Given the description of an element on the screen output the (x, y) to click on. 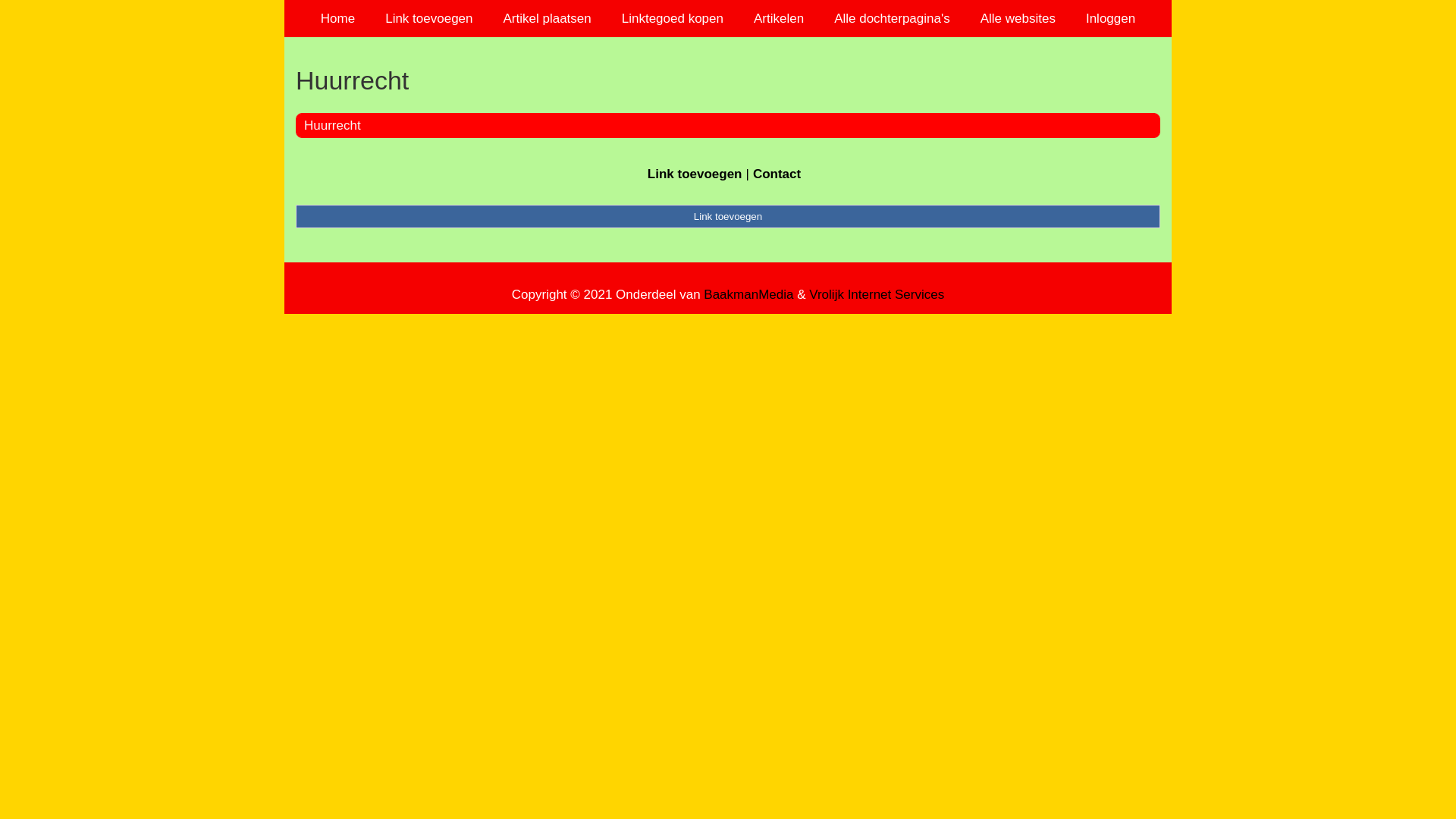
Home Element type: text (337, 18)
Link toevoegen Element type: text (727, 215)
Artikelen Element type: text (778, 18)
Link toevoegen Element type: text (428, 18)
Huurrecht Element type: text (727, 80)
Huurrecht Element type: text (332, 125)
Alle websites Element type: text (1017, 18)
Alle dochterpagina's Element type: text (892, 18)
Contact Element type: text (776, 173)
Linktegoed kopen Element type: text (672, 18)
BaakmanMedia Element type: text (748, 294)
Vrolijk Internet Services Element type: text (876, 294)
Inloggen Element type: text (1110, 18)
Link toevoegen Element type: text (694, 173)
Artikel plaatsen Element type: text (547, 18)
